Given the description of an element on the screen output the (x, y) to click on. 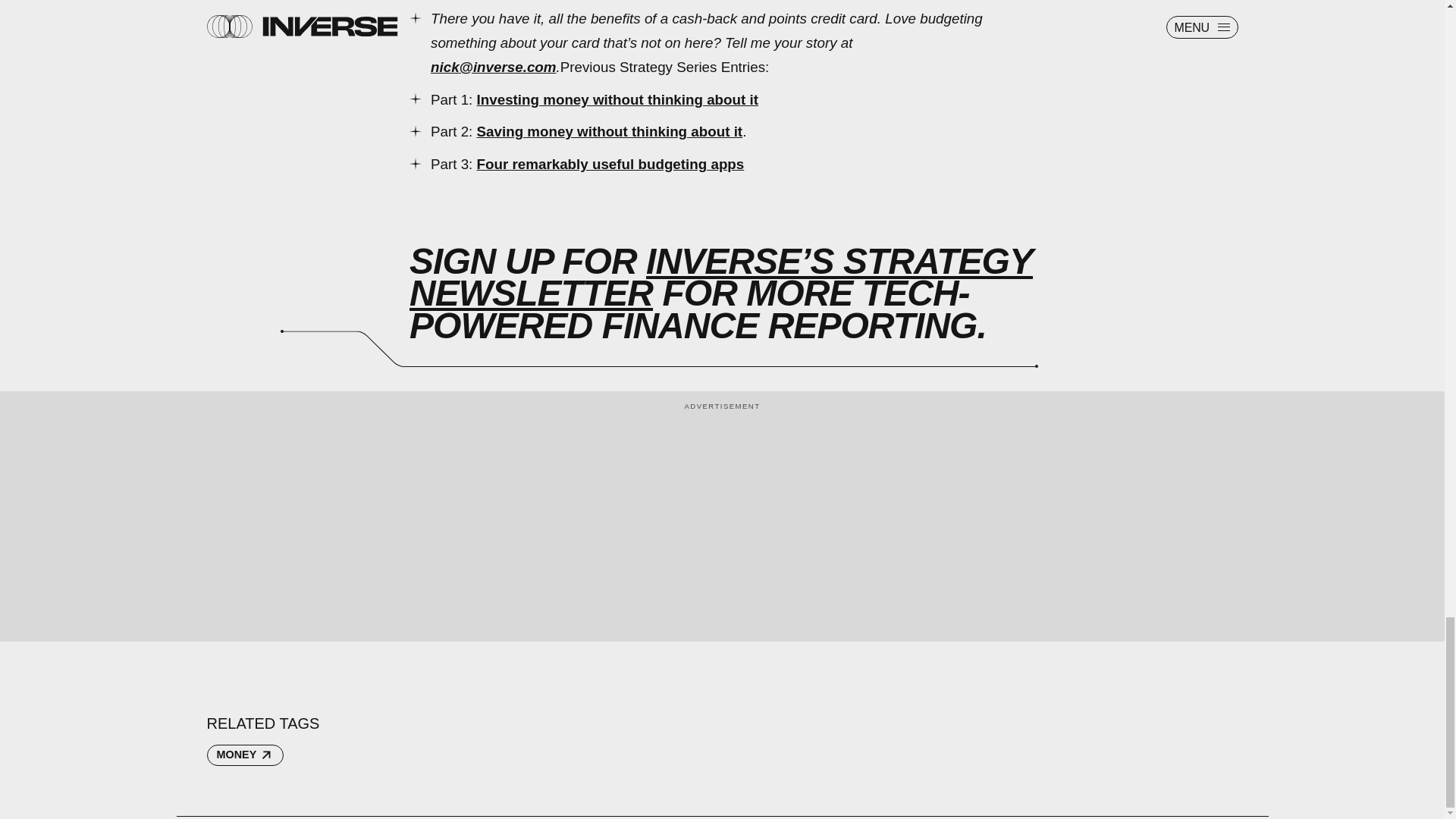
Investing money without thinking about it (617, 99)
Saving money without thinking about it (609, 131)
MONEY (244, 754)
Four remarkably useful budgeting apps (610, 163)
